Given the description of an element on the screen output the (x, y) to click on. 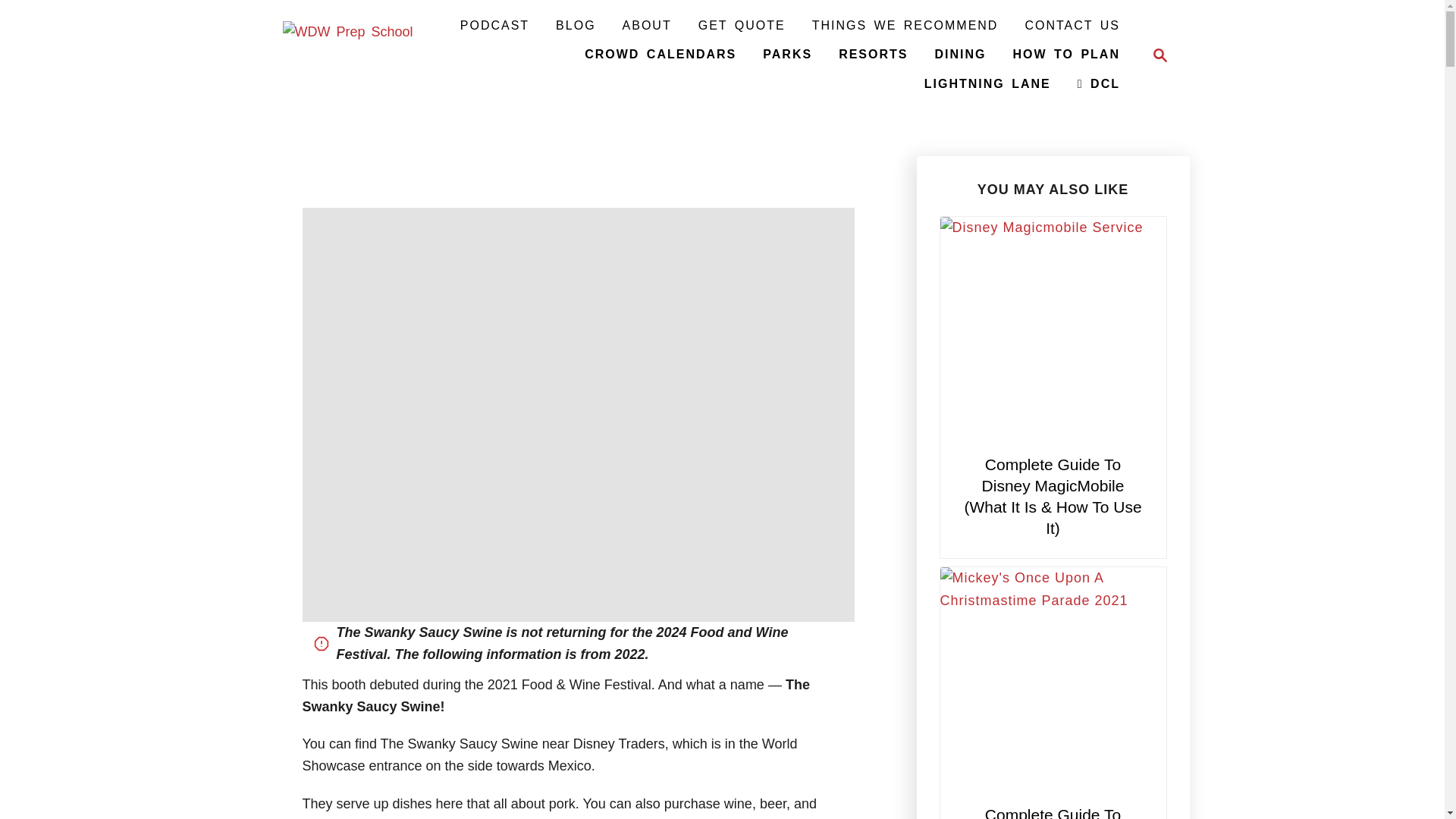
RESORTS (873, 54)
Search (1155, 55)
GET QUOTE (741, 25)
BLOG (575, 25)
PARKS (787, 54)
CROWD CALENDARS (660, 54)
CONTACT US (1071, 25)
WDW Prep School (347, 55)
THINGS WE RECOMMEND (905, 25)
PODCAST (494, 25)
